Given the description of an element on the screen output the (x, y) to click on. 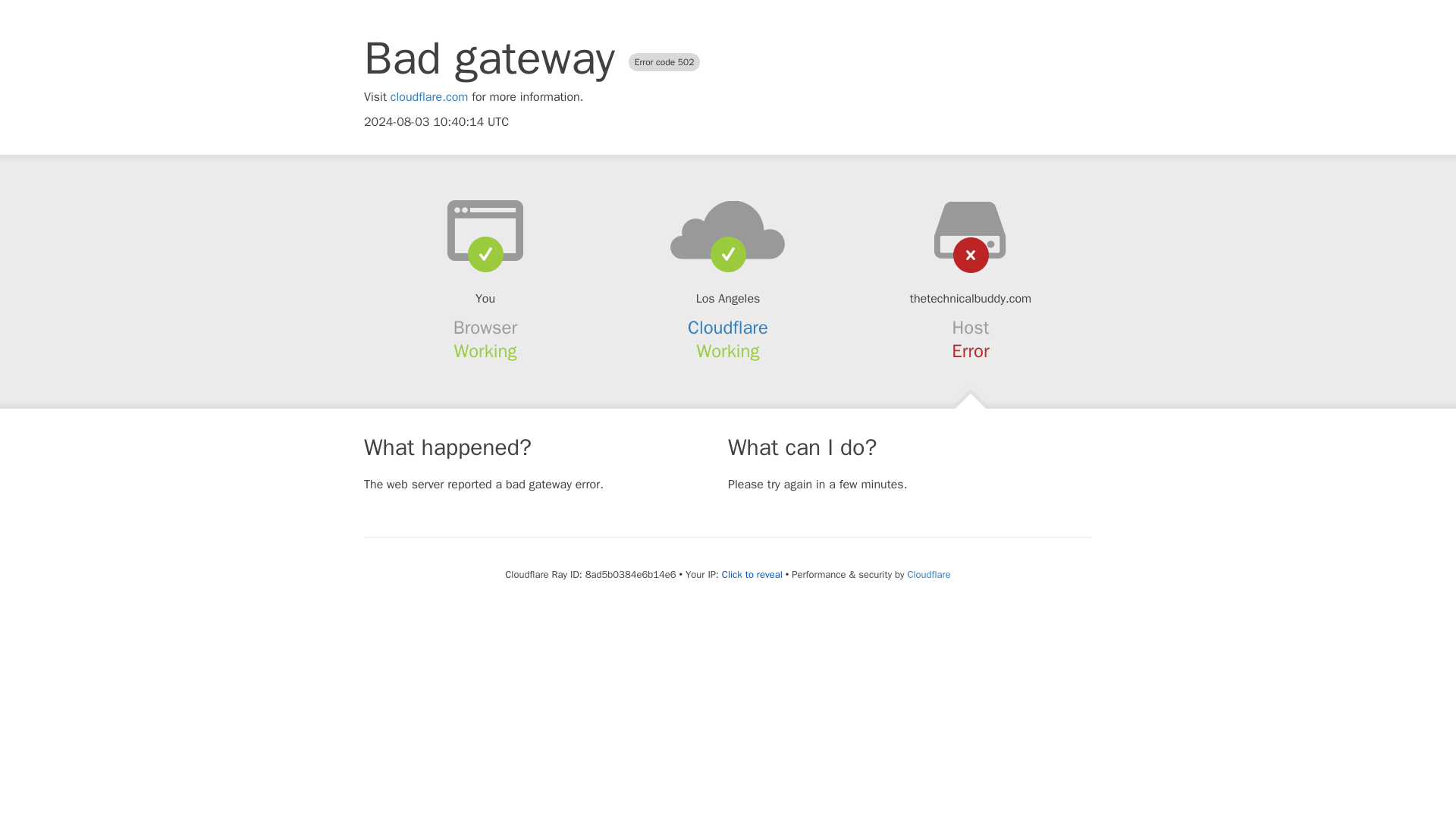
Cloudflare (928, 574)
cloudflare.com (429, 96)
Cloudflare (727, 327)
Click to reveal (752, 574)
